Given the description of an element on the screen output the (x, y) to click on. 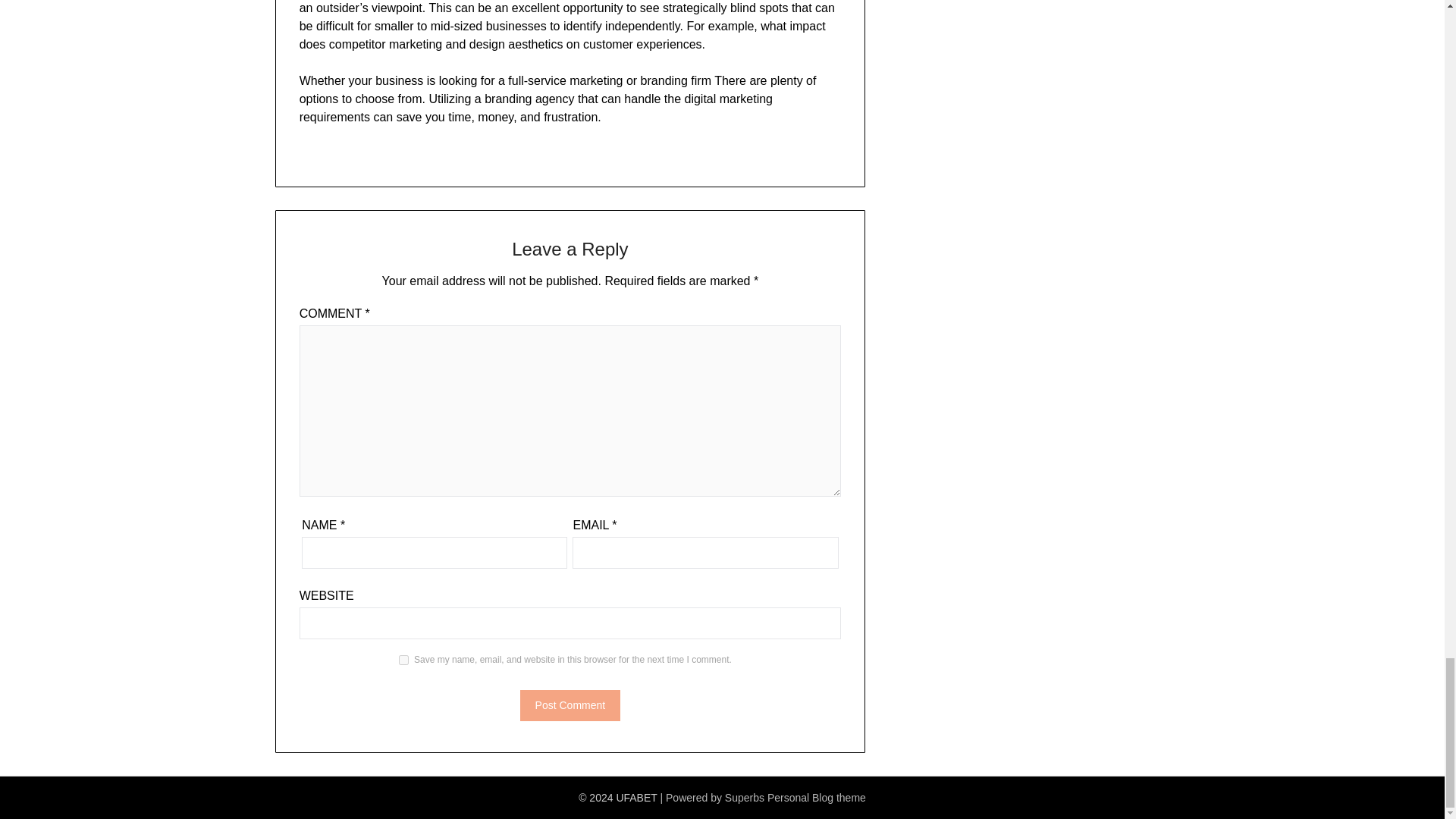
yes (403, 660)
Post Comment (570, 705)
Post Comment (570, 705)
Personal Blog theme (816, 797)
